Given the description of an element on the screen output the (x, y) to click on. 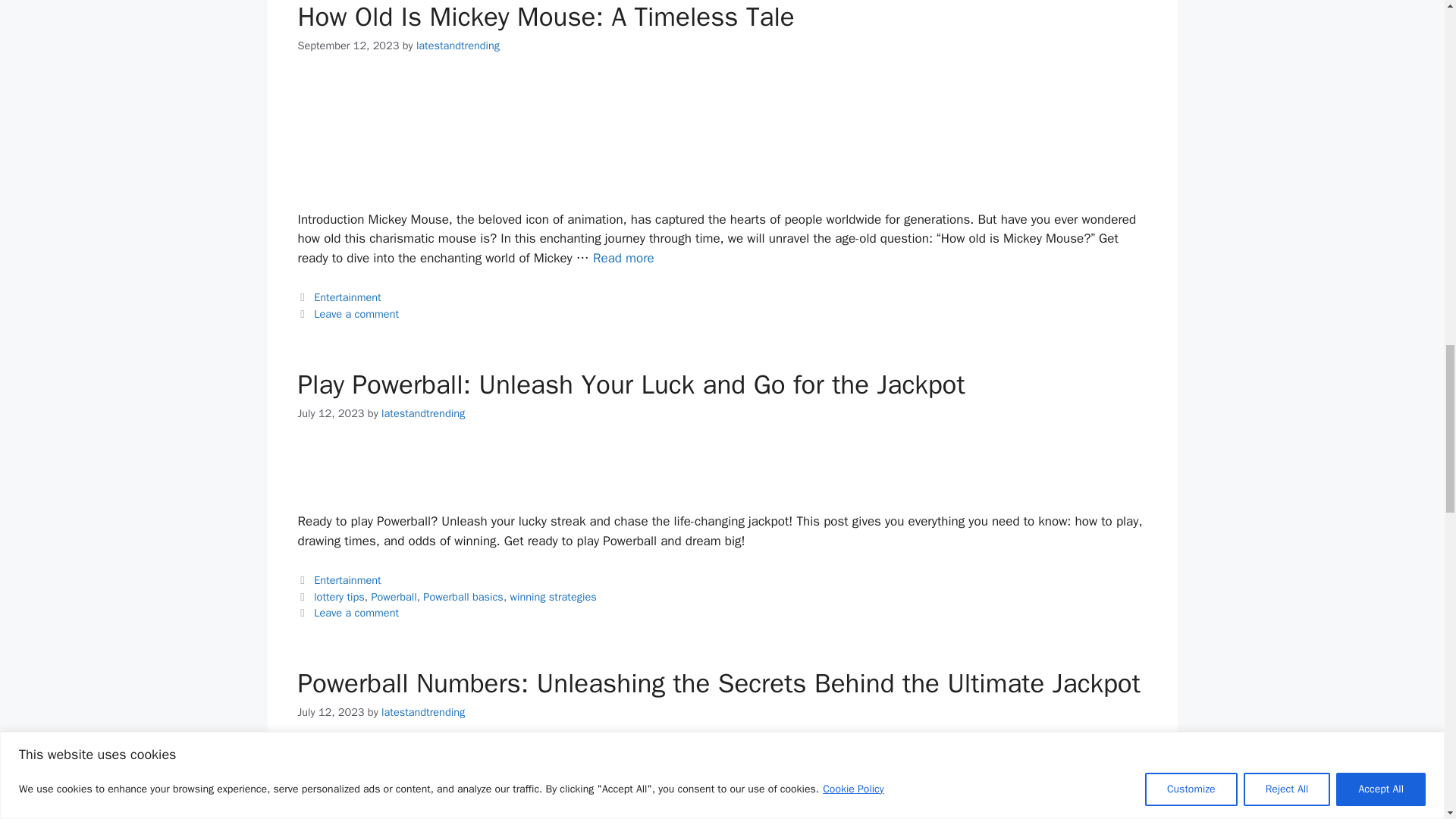
View all posts by latestandtrending (457, 45)
How Old Is Mickey Mouse: A Timeless Tale (622, 258)
Play Powerball: Unleash Your Luck and Go for the Jackpot 6 (346, 463)
View all posts by latestandtrending (422, 413)
How Old Is Mickey Mouse: A Timeless Tale 5 (346, 128)
